Given the description of an element on the screen output the (x, y) to click on. 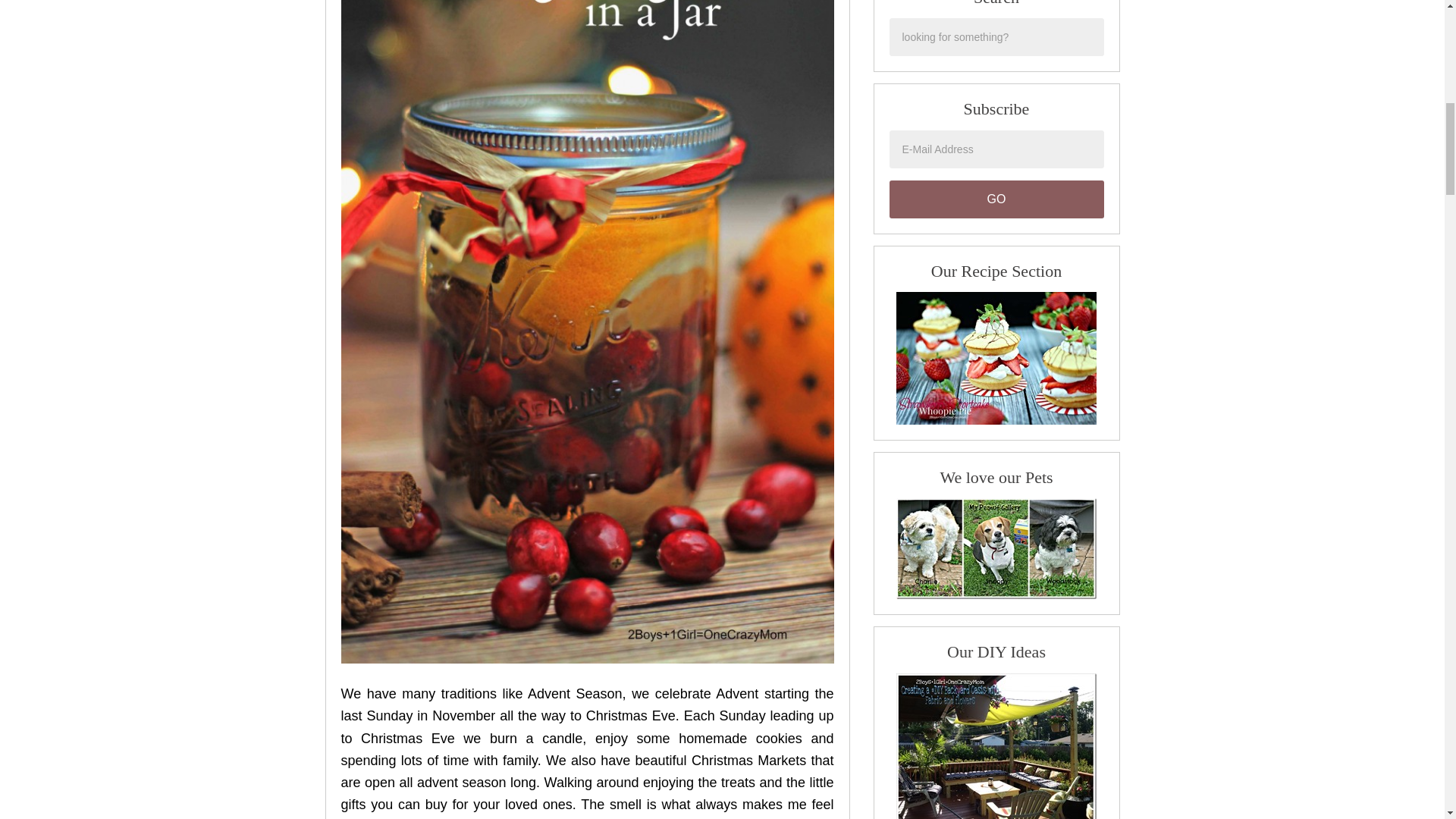
Go (995, 199)
